Given the description of an element on the screen output the (x, y) to click on. 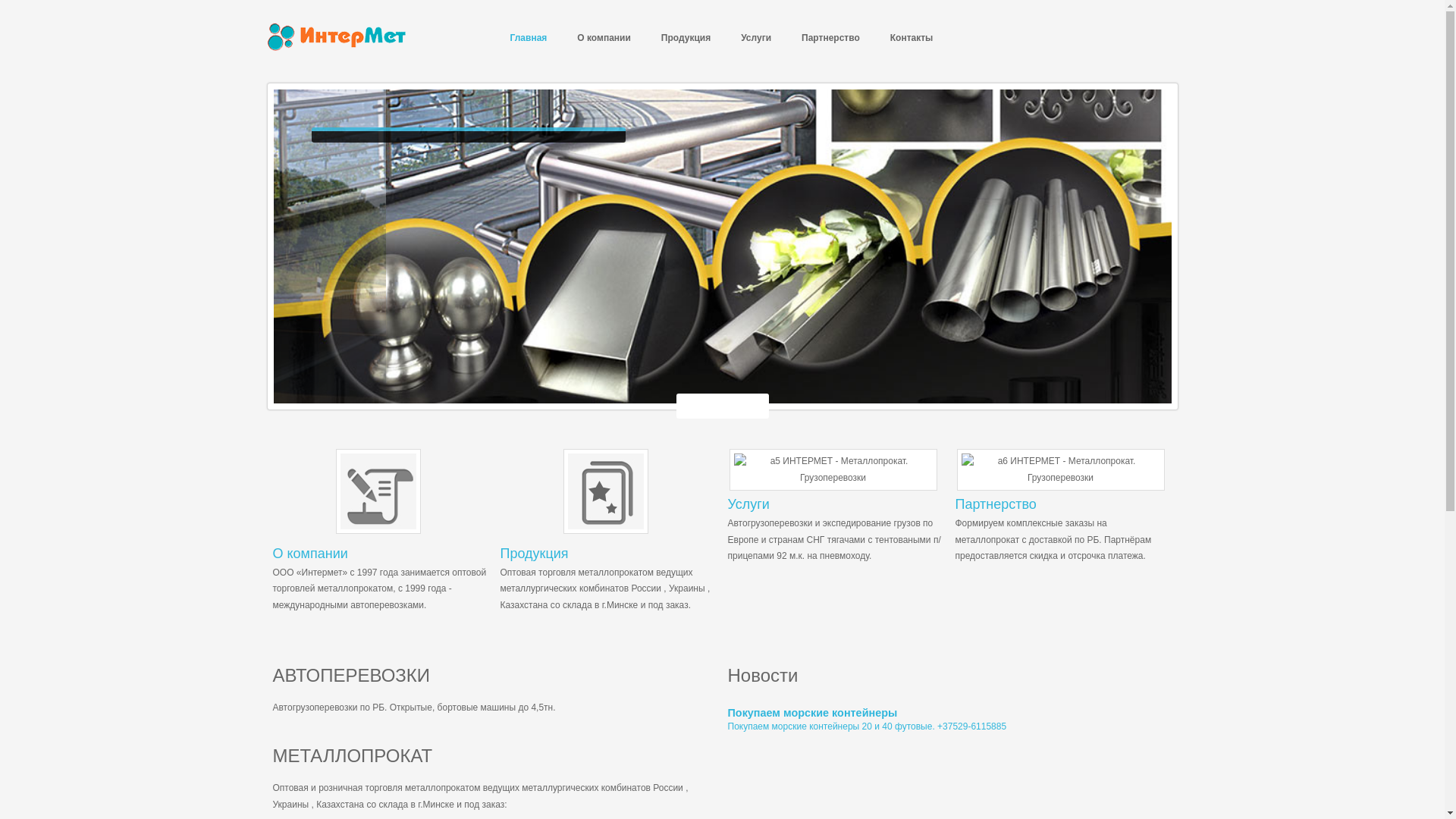
a5 image Element type: hover (833, 469)
a3 image Element type: hover (377, 490)
a1 image Element type: hover (604, 490)
a6 image Element type: hover (1060, 469)
